Given the description of an element on the screen output the (x, y) to click on. 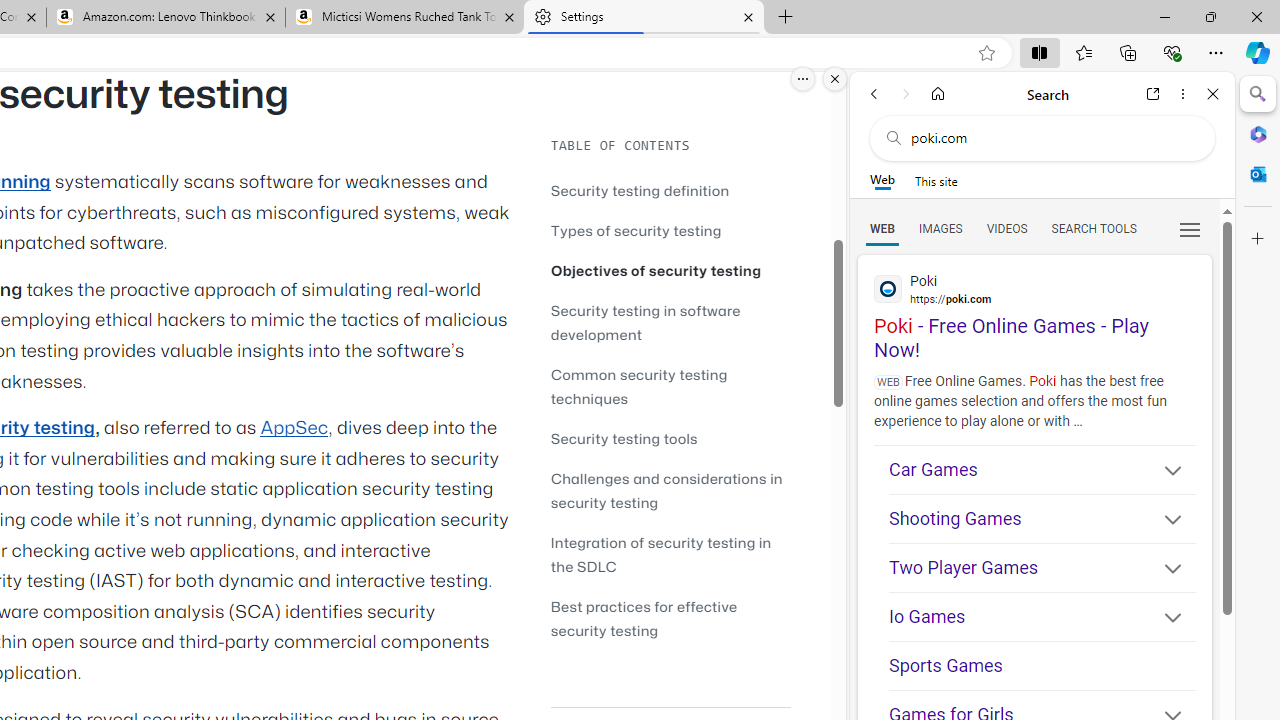
More options. (803, 79)
Integration of security testing in the SDLC (660, 554)
Two Player Games (1042, 567)
Poki - Free Online Games - Play Now! (1034, 309)
AppSec (293, 428)
This site scope (936, 180)
Show More Two Player Games (1164, 570)
